Given the description of an element on the screen output the (x, y) to click on. 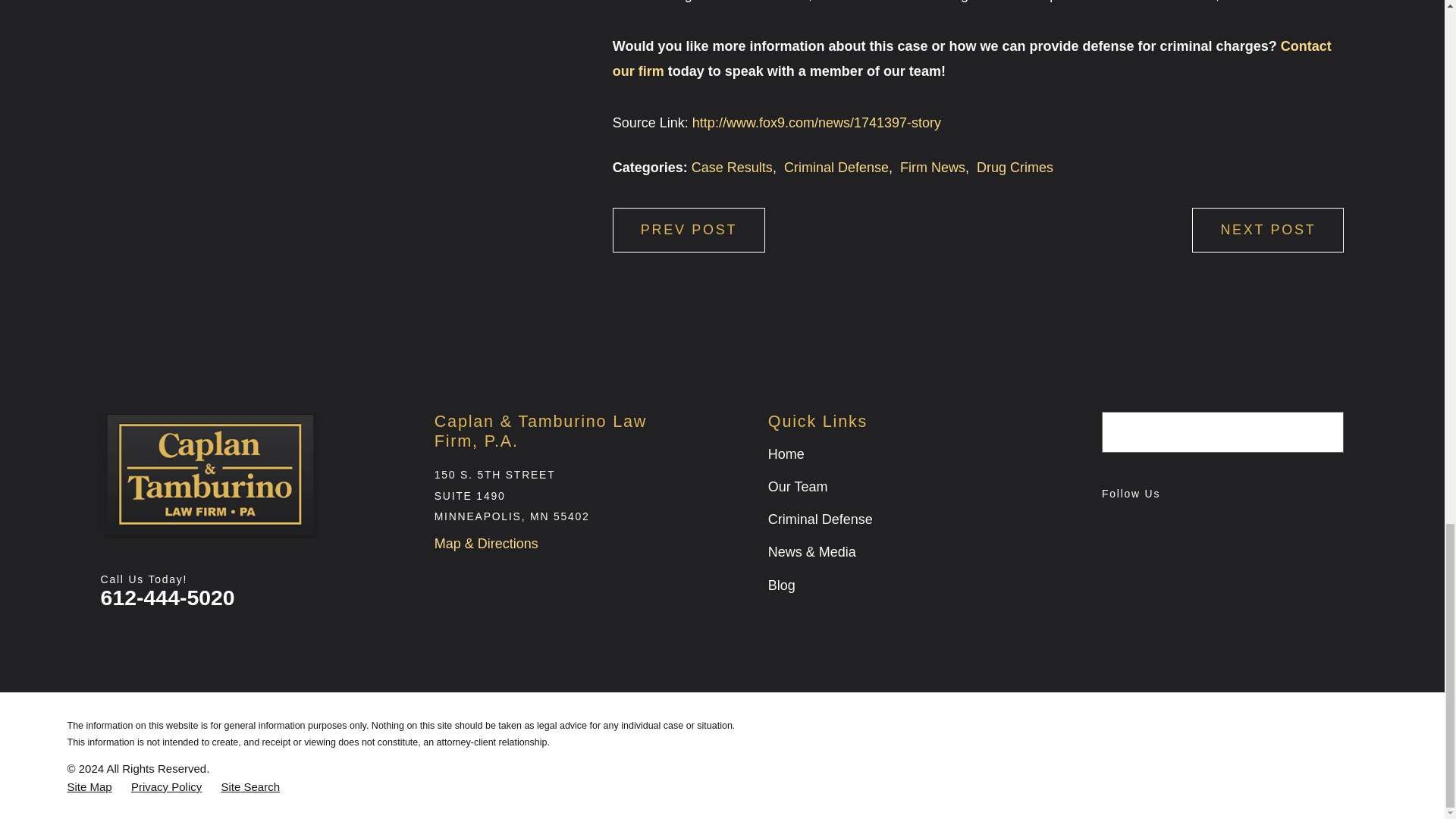
YouTube (1287, 524)
Home (209, 474)
Search Our Site (1323, 431)
Instagram (1154, 524)
Facebook (1111, 524)
Twitter (1242, 524)
LinkedIn (1198, 524)
